Given the description of an element on the screen output the (x, y) to click on. 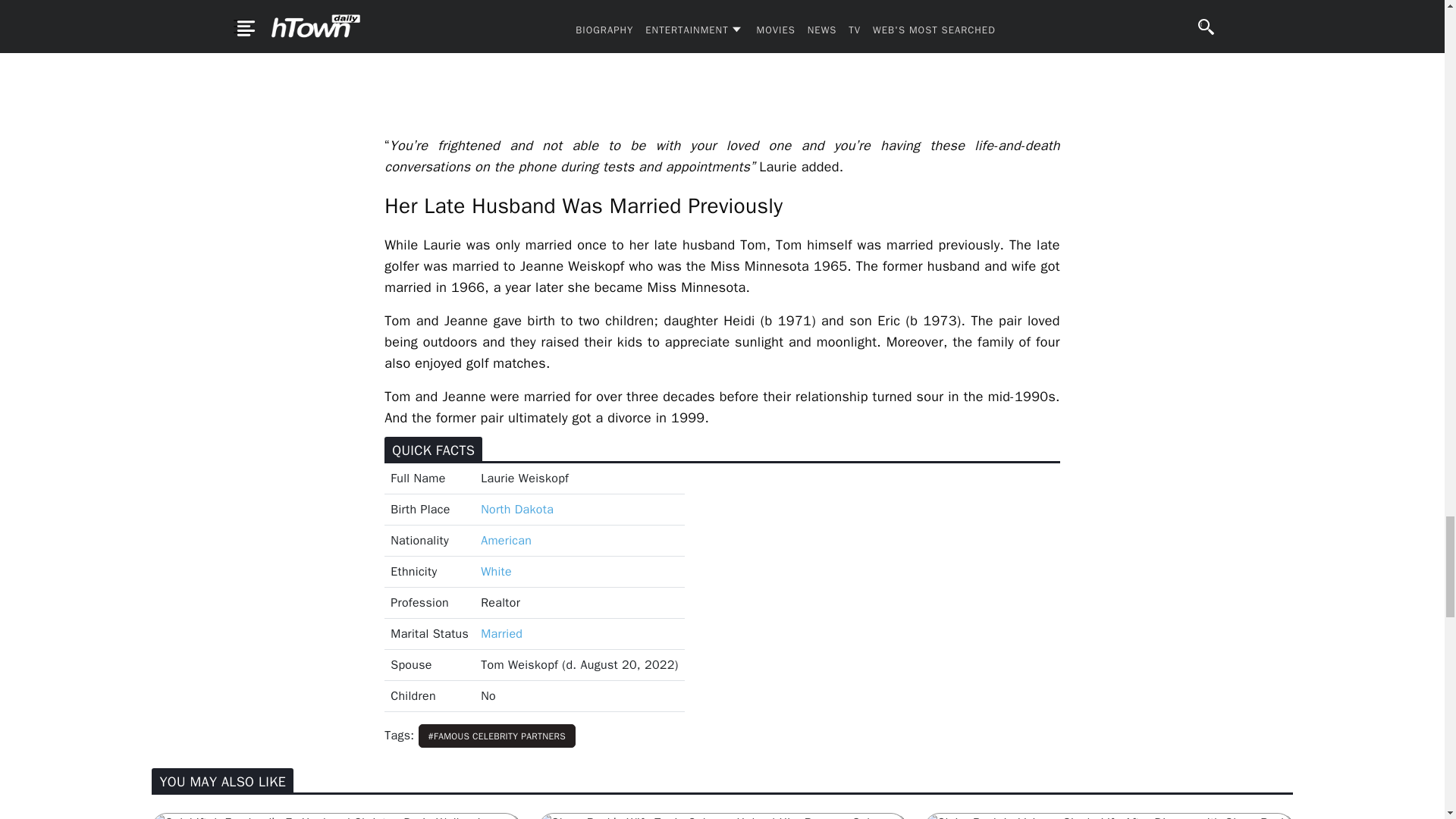
Married (501, 633)
North Dakota (516, 509)
American (505, 540)
FAMOUS CELEBRITY PARTNERS (497, 735)
White (496, 571)
